Given the description of an element on the screen output the (x, y) to click on. 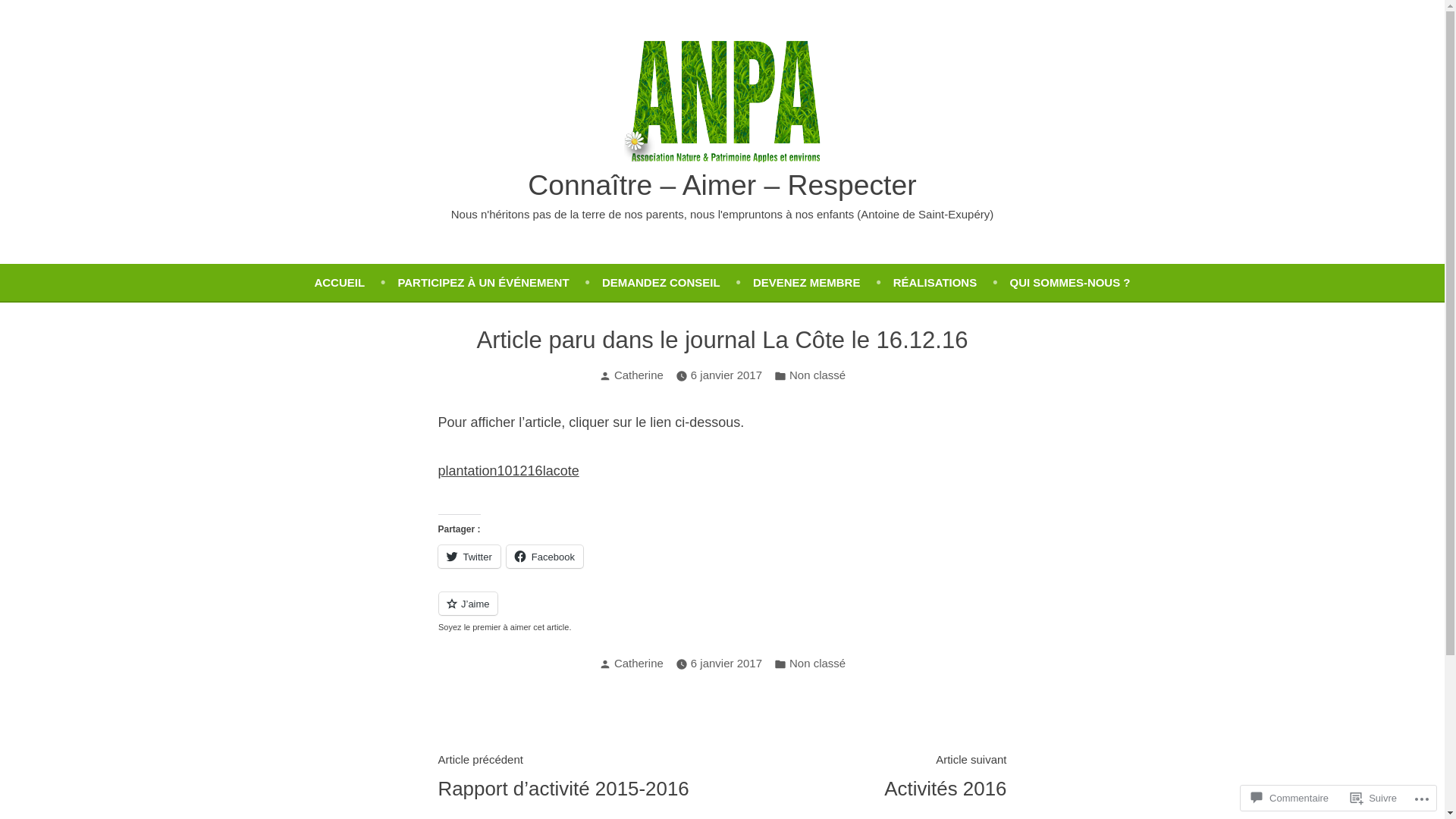
Commentaire Element type: text (1289, 797)
Catherine Element type: text (638, 374)
Suivre Element type: text (1373, 797)
DEMANDEZ CONSEIL Element type: text (677, 281)
6 janvier 2017 Element type: text (726, 663)
ACCUEIL Element type: text (355, 281)
Twitter Element type: text (469, 556)
plantation101216lacote Element type: text (508, 470)
QUI SOMMES-NOUS ? Element type: text (1070, 281)
6 janvier 2017 Element type: text (726, 375)
DEVENEZ MEMBRE Element type: text (823, 281)
Aimer ou rebloguer Element type: hover (722, 612)
Facebook Element type: text (544, 556)
Catherine Element type: text (638, 662)
